Given the description of an element on the screen output the (x, y) to click on. 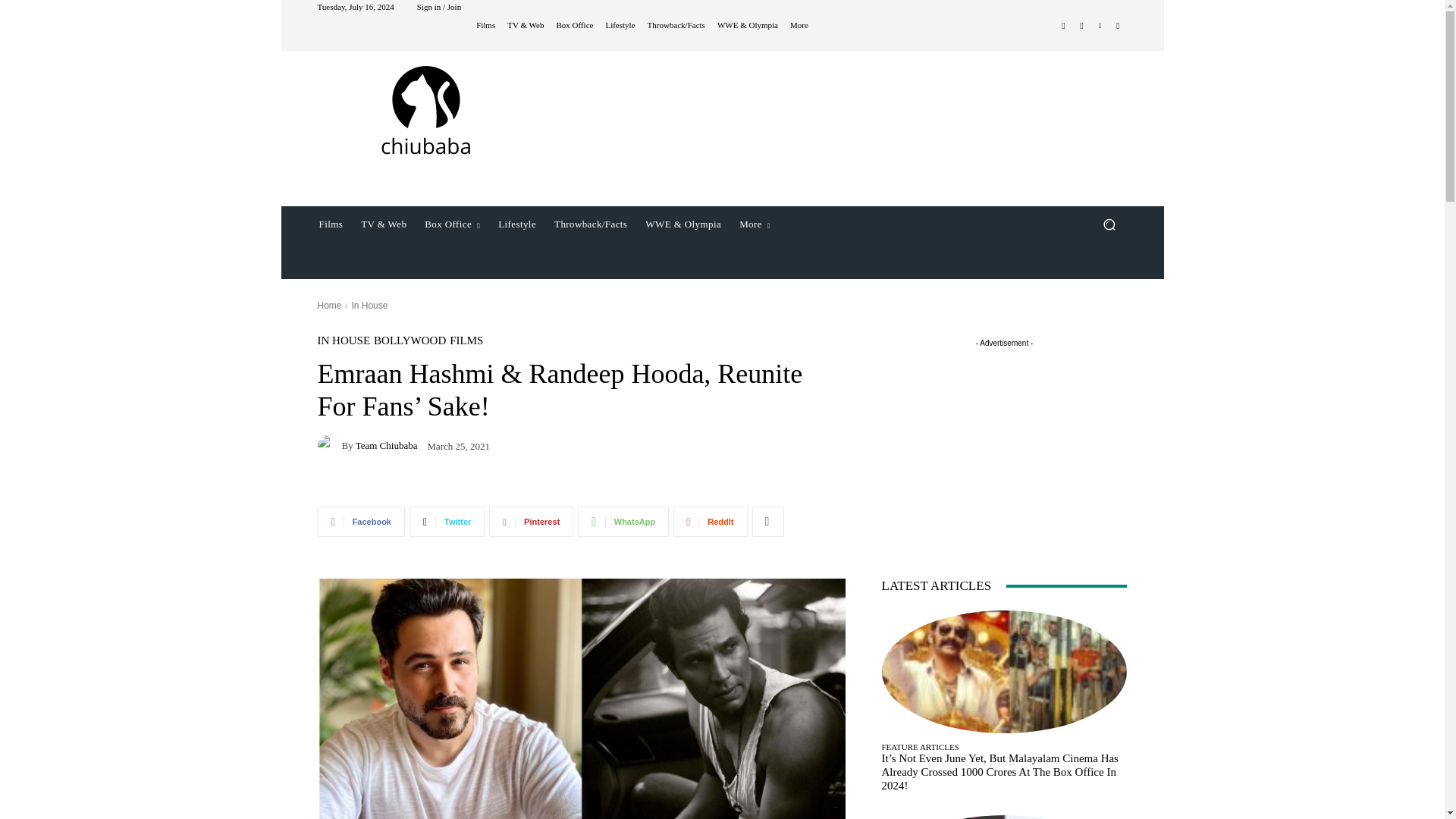
View all posts in In House (368, 305)
Films (485, 25)
More (799, 25)
Team Chiubaba (328, 444)
Lifestyle (619, 25)
Advertisement (846, 126)
Facebook (1062, 25)
Pinterest (1099, 25)
Instagram (1080, 25)
Box Office (574, 25)
Twitter (1117, 25)
